Given the description of an element on the screen output the (x, y) to click on. 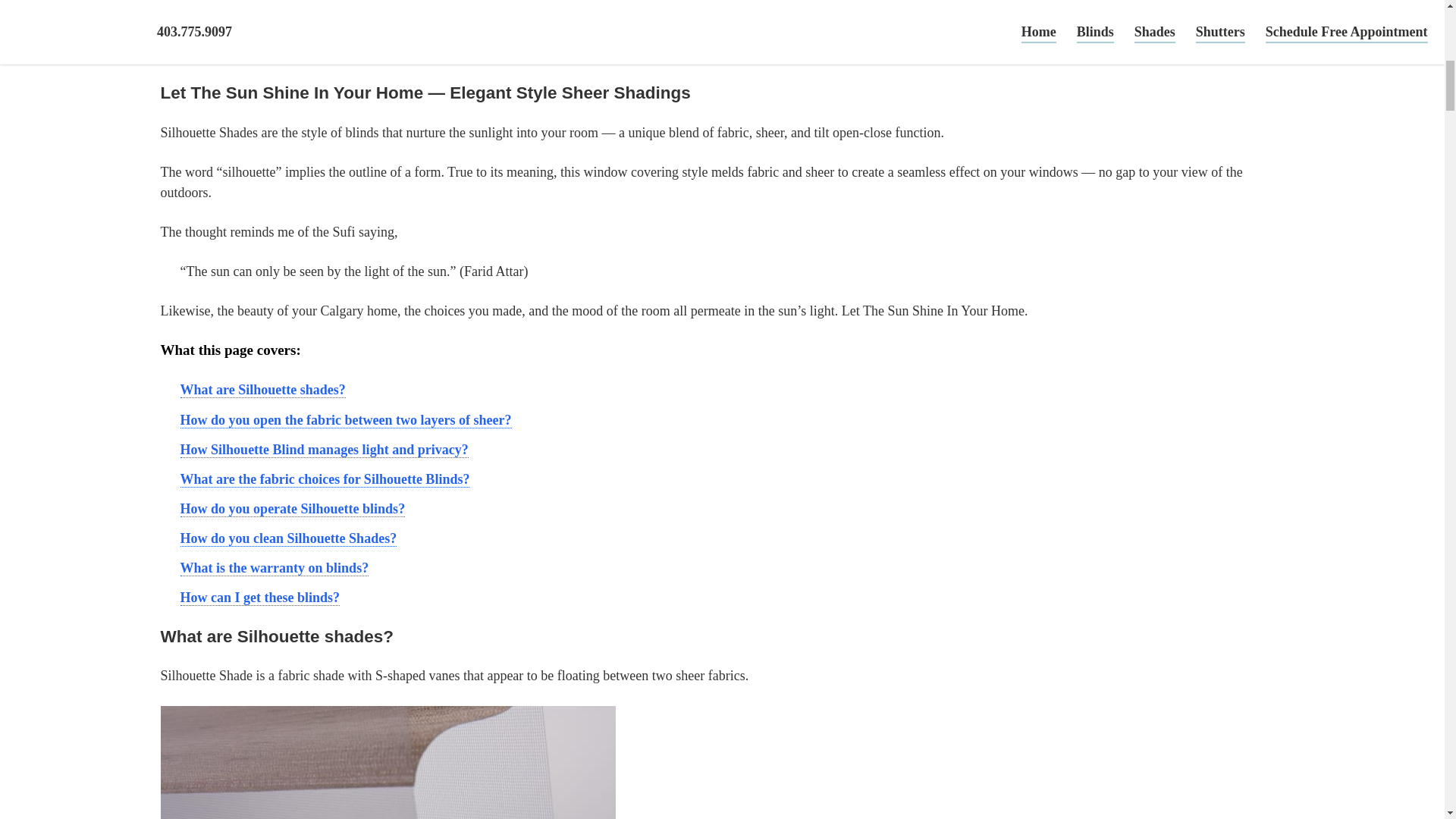
What is the warranty on blinds? (274, 568)
How do you operate Silhouette blinds? (293, 508)
How do you clean Silhouette Shades? (288, 538)
How Silhouette Blind manages light and privacy? (324, 449)
How can I get these blinds? (260, 597)
What are Silhouette shades? (263, 390)
What are the fabric choices for Silhouette Blinds? (325, 479)
How do you open the fabric between two layers of sheer? (346, 420)
